Given the description of an element on the screen output the (x, y) to click on. 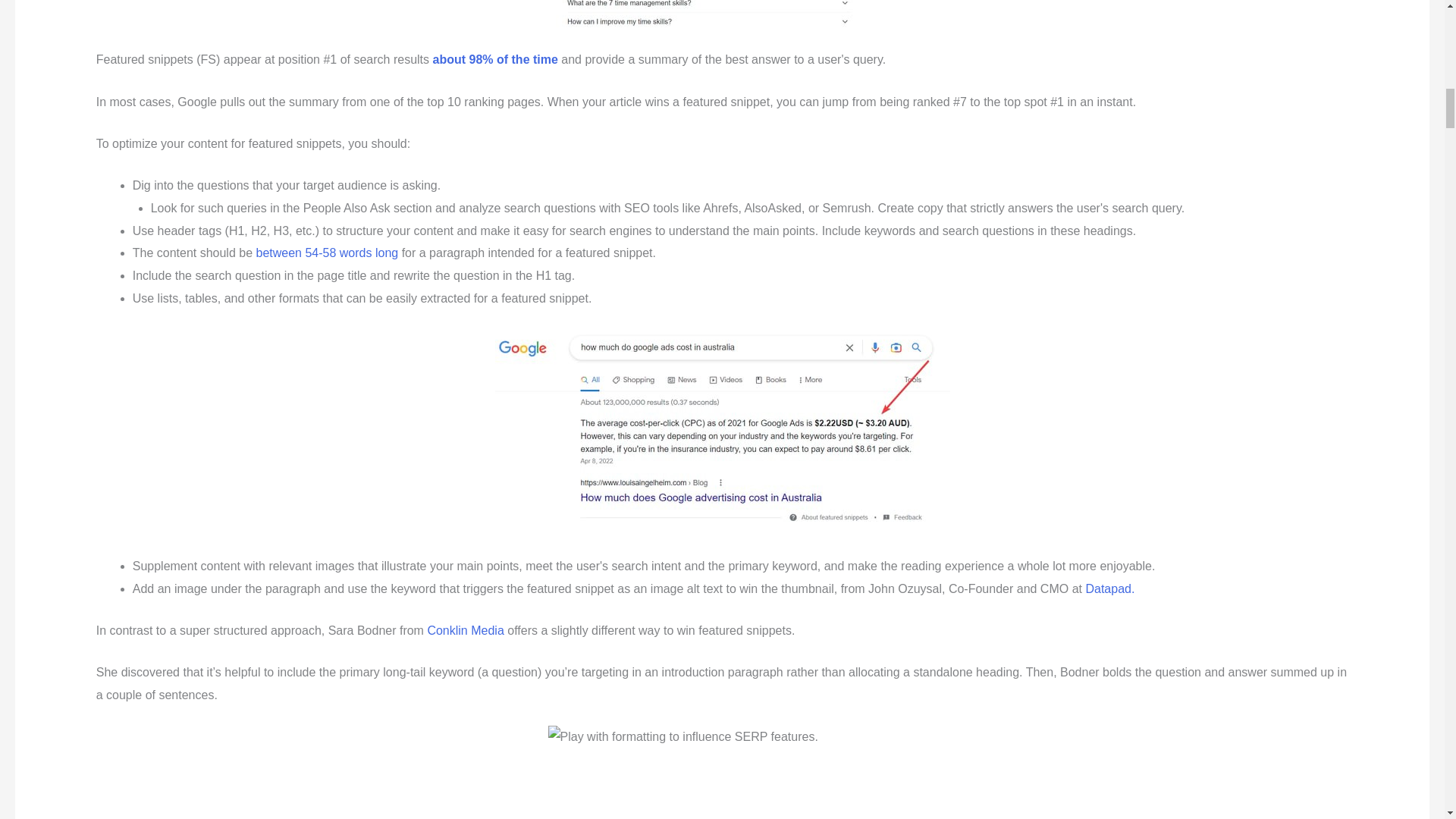
Conklin Media (464, 630)
between 54-58 words long (327, 252)
Datapad. (1109, 588)
